Given the description of an element on the screen output the (x, y) to click on. 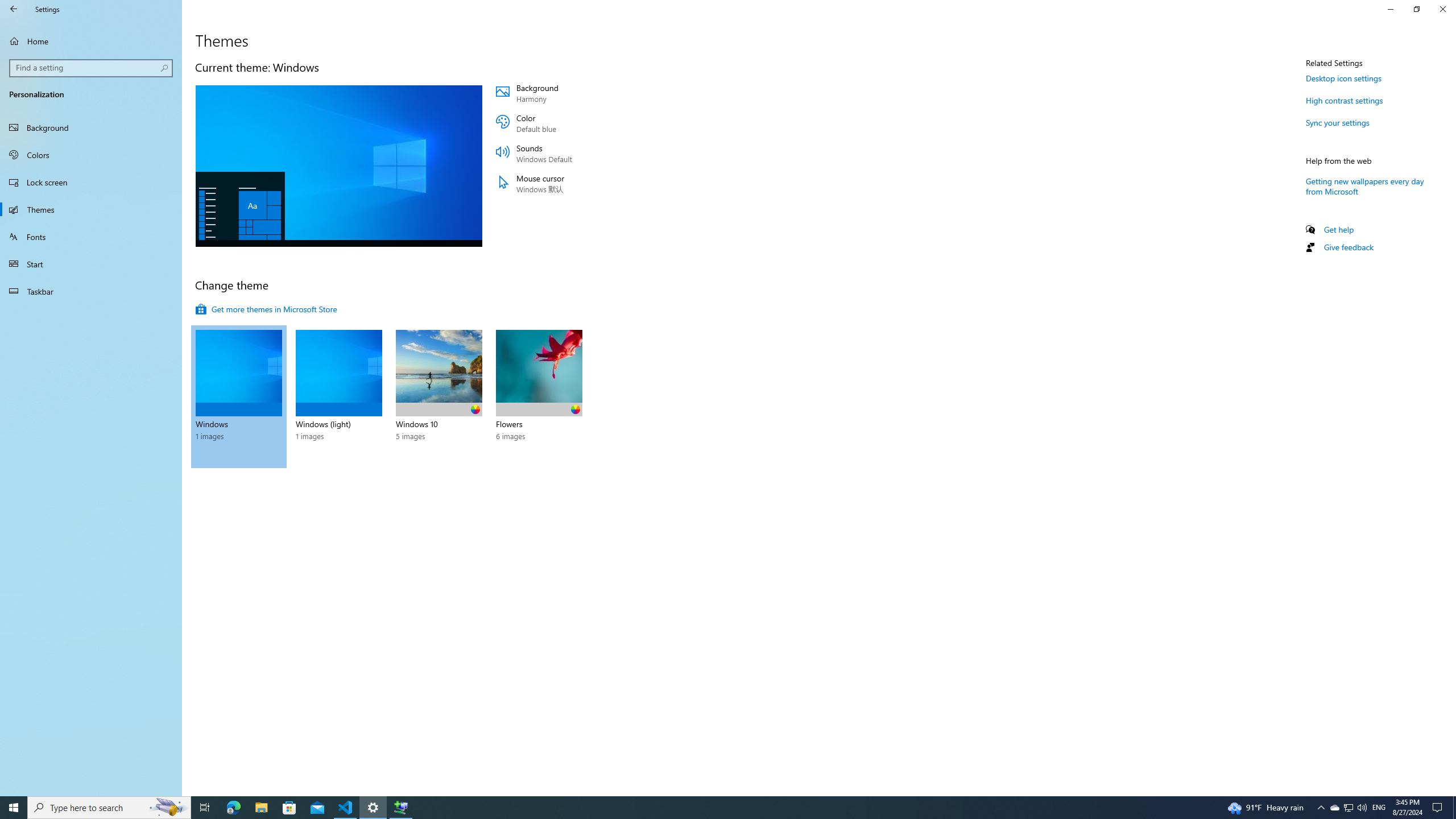
Get more themes in Microsoft Store (266, 309)
Color Default blue (564, 123)
Background Harmony (564, 93)
Windows (light) 1 images (339, 396)
Give feedback (1348, 246)
High contrast settings (1344, 100)
Themes (91, 208)
Search box, Find a setting (91, 67)
Windows 1 images (238, 396)
Close Settings (1442, 9)
Back (13, 9)
